Given the description of an element on the screen output the (x, y) to click on. 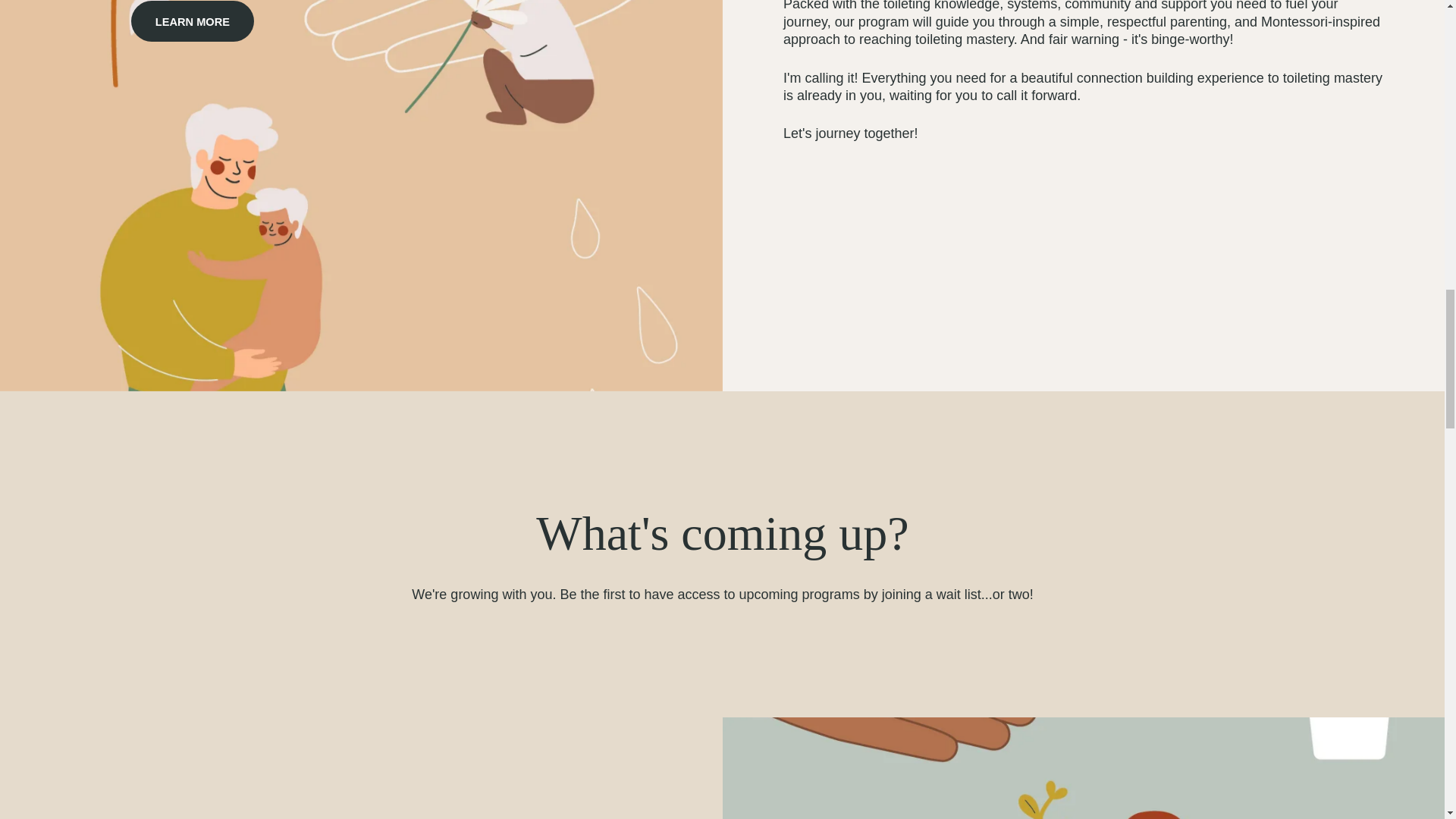
LEARN MORE (192, 20)
Learn more (192, 20)
